Given the description of an element on the screen output the (x, y) to click on. 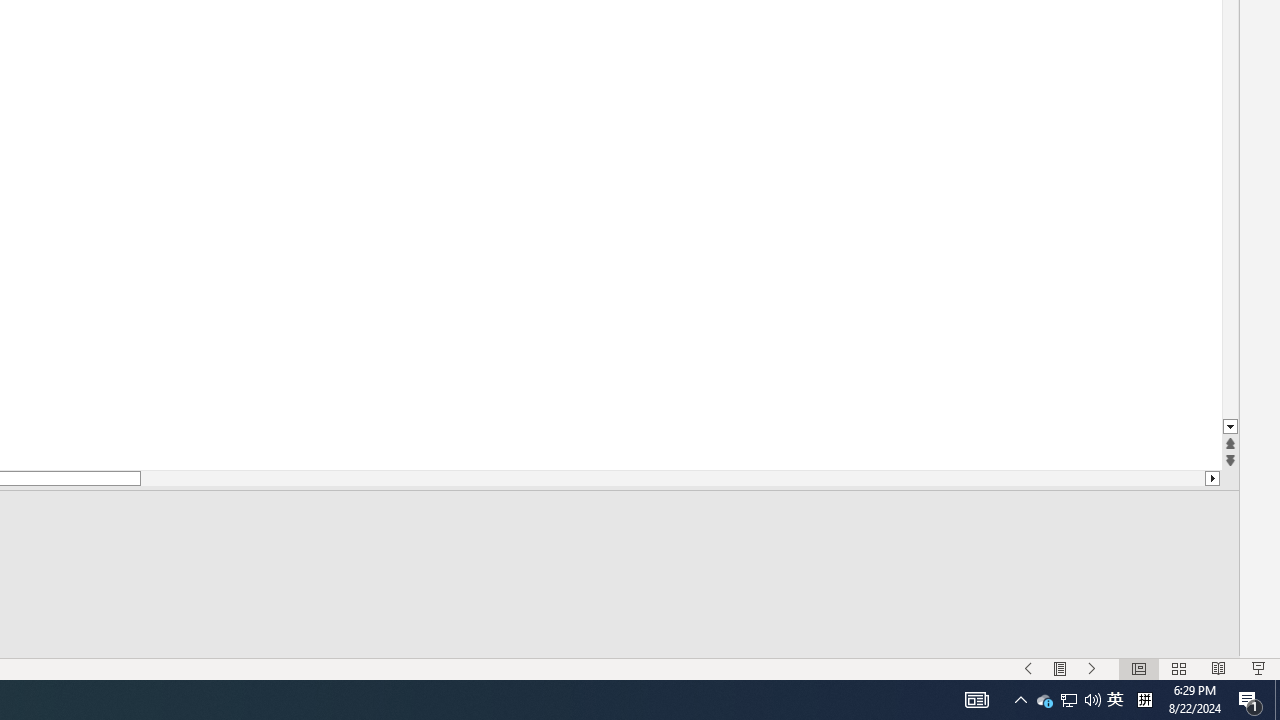
Menu On (1060, 668)
Slide Show Previous On (1028, 668)
Slide Show Next On (1092, 668)
